Given the description of an element on the screen output the (x, y) to click on. 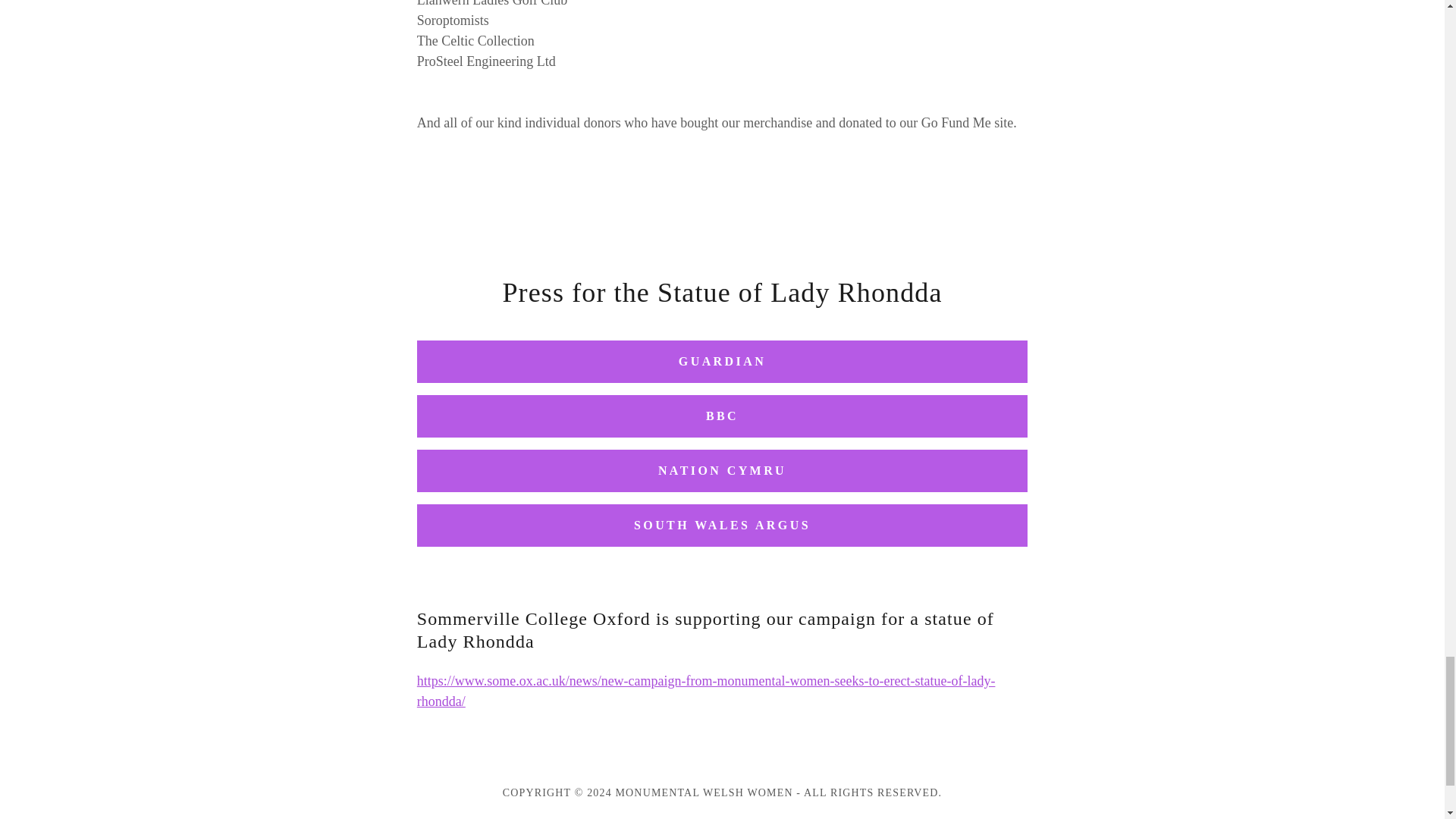
NATION CYMRU (721, 470)
GUARDIAN (721, 361)
SOUTH WALES ARGUS (721, 525)
BBC (721, 415)
